Given the description of an element on the screen output the (x, y) to click on. 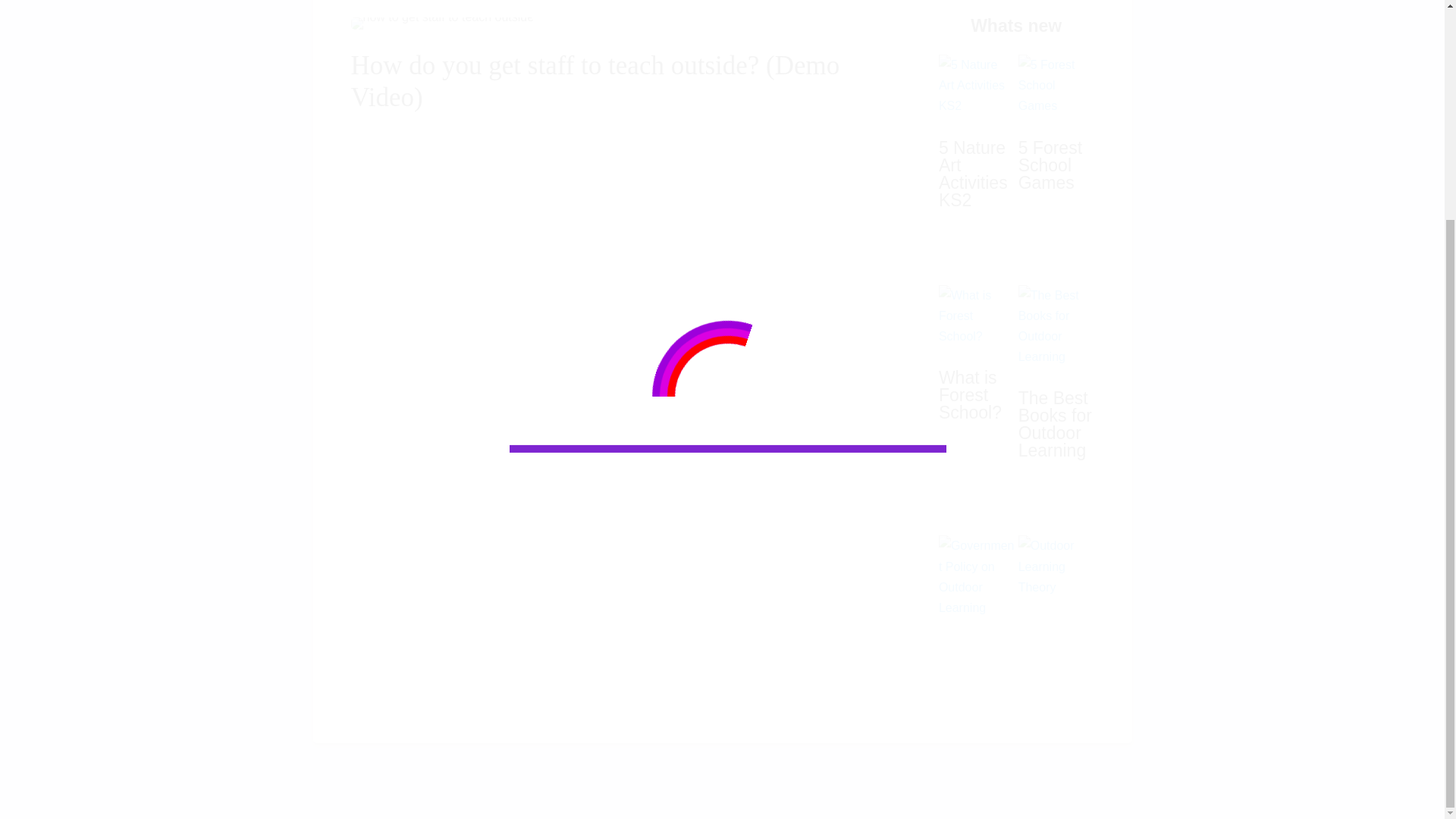
how to get staff to teach outside (442, 23)
